Given the description of an element on the screen output the (x, y) to click on. 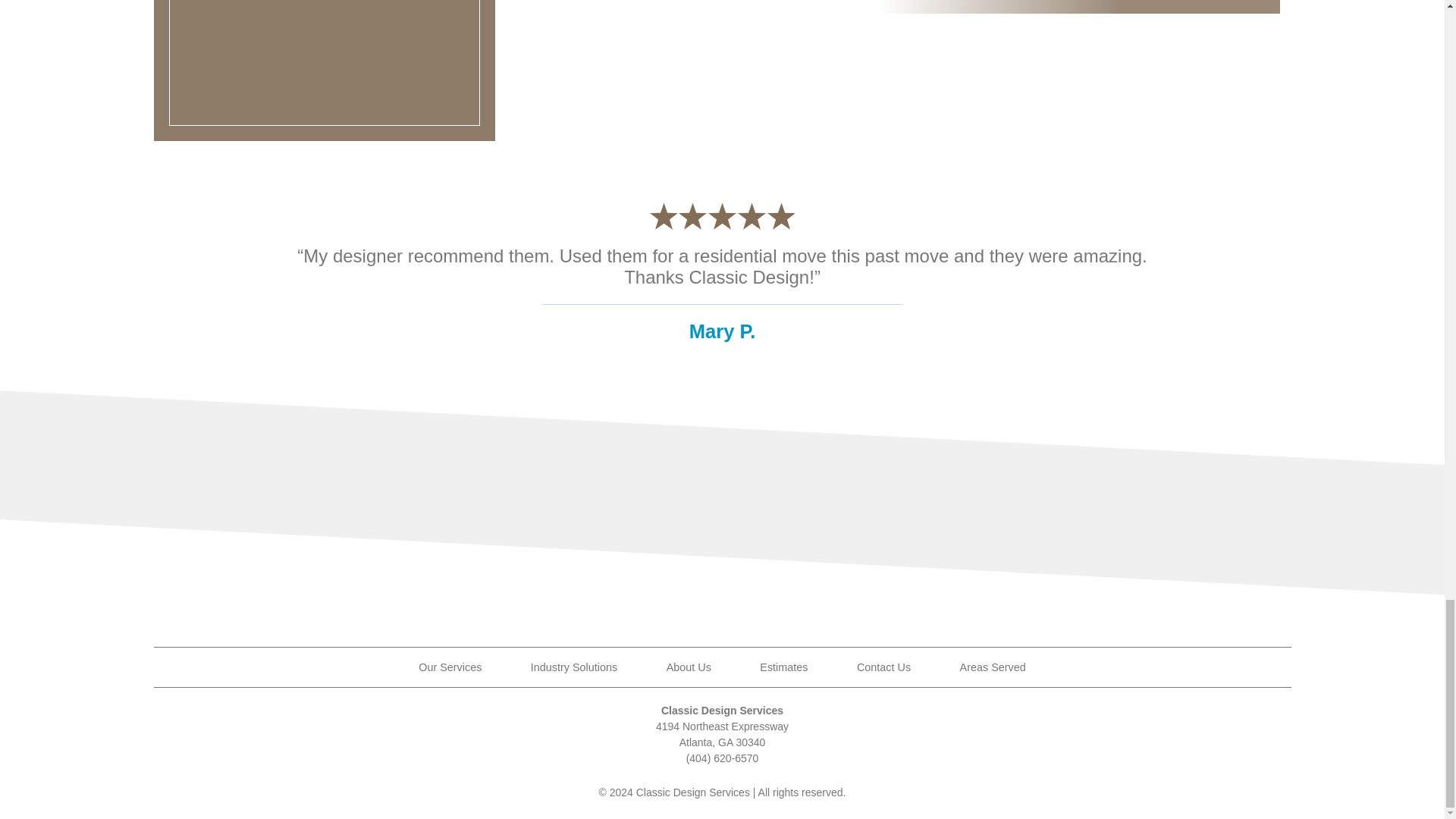
Our Services (450, 666)
